Given the description of an element on the screen output the (x, y) to click on. 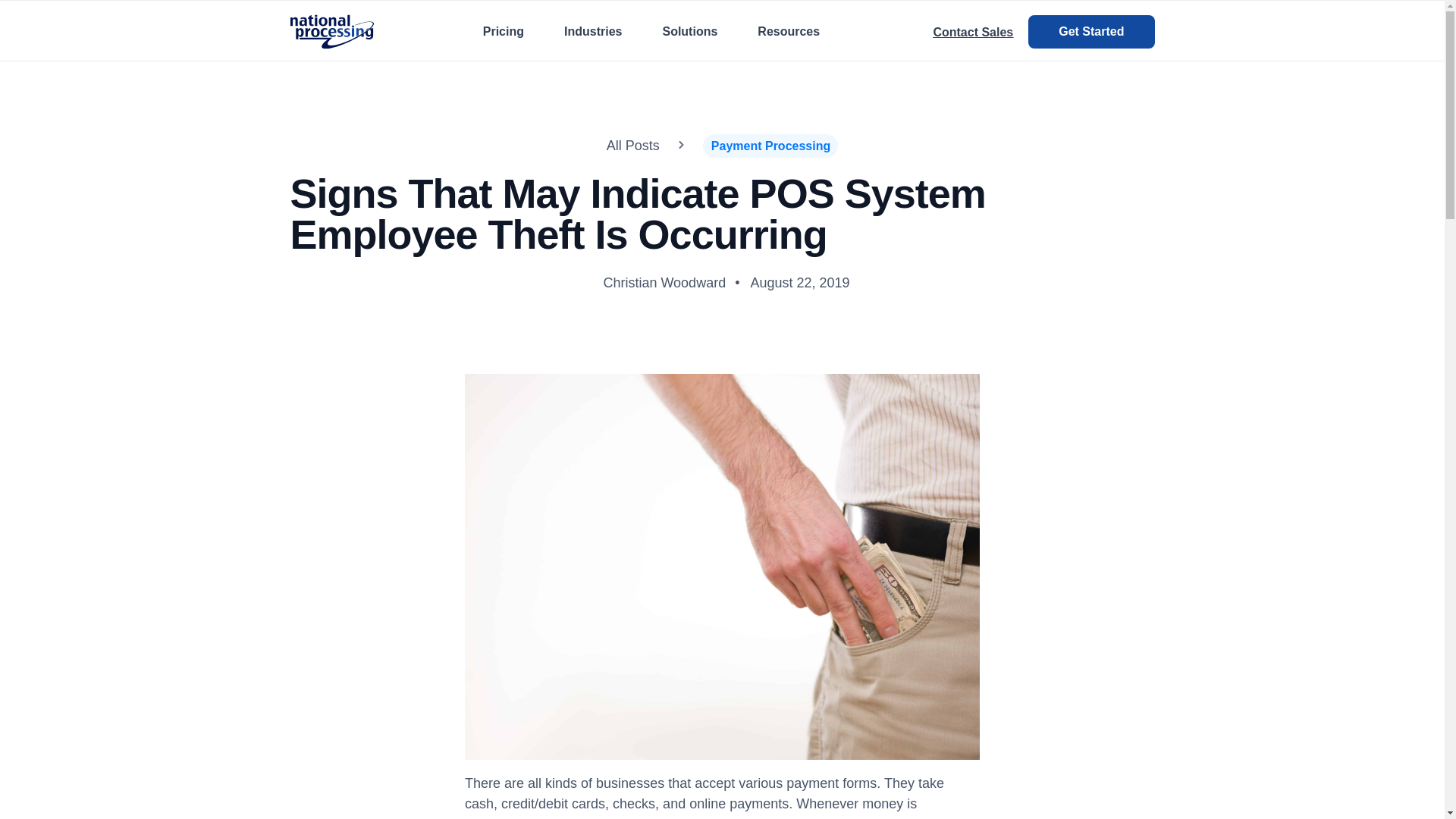
Get Started (1090, 31)
Solutions (689, 31)
Pricing (503, 31)
Industries (592, 31)
Contact Sales (973, 31)
